Given the description of an element on the screen output the (x, y) to click on. 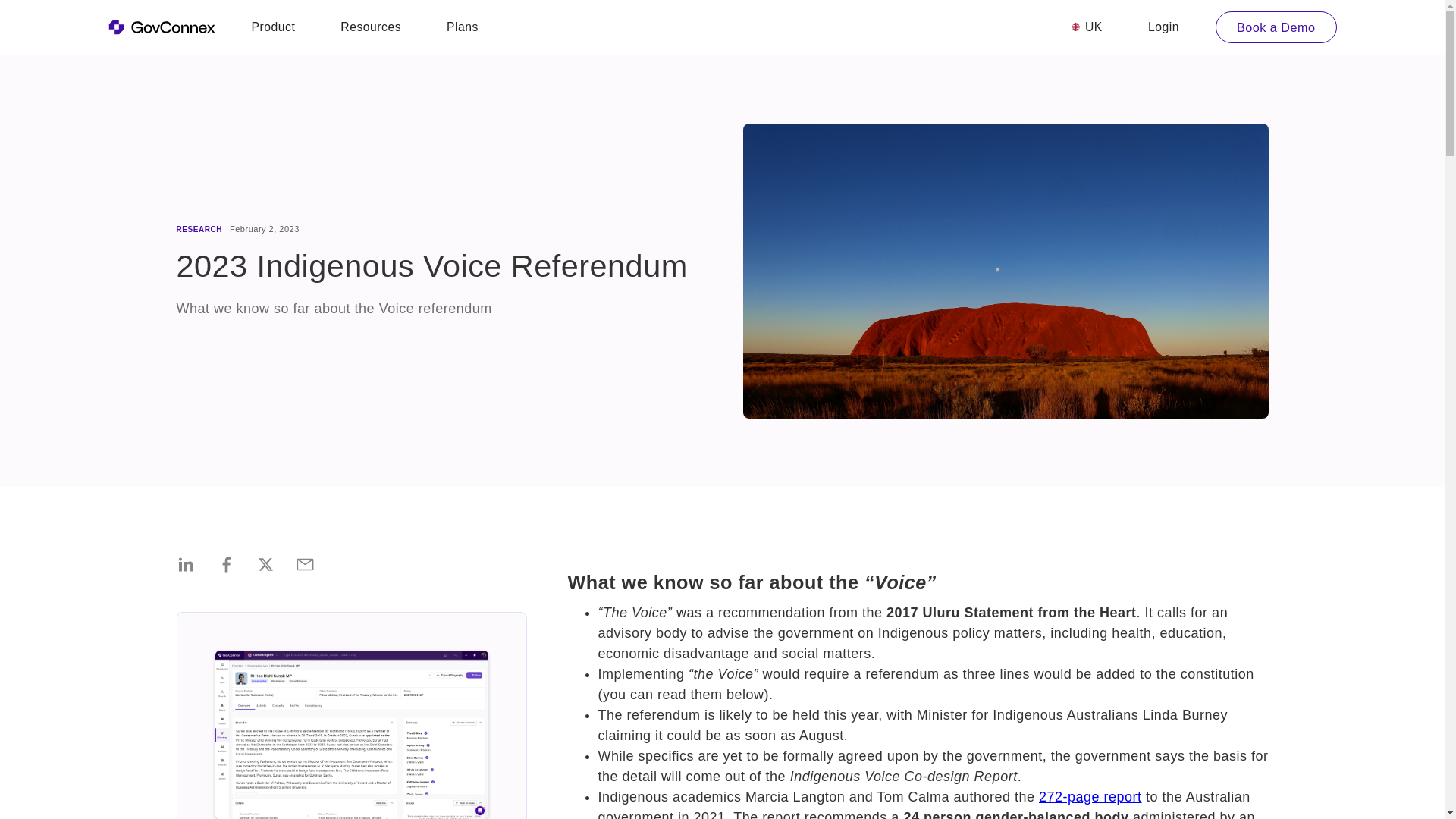
Plans (462, 27)
UK (1087, 27)
272-page report (1090, 796)
Book a Demo (1275, 27)
Login (1163, 27)
Product (273, 27)
Resources (370, 27)
